Given the description of an element on the screen output the (x, y) to click on. 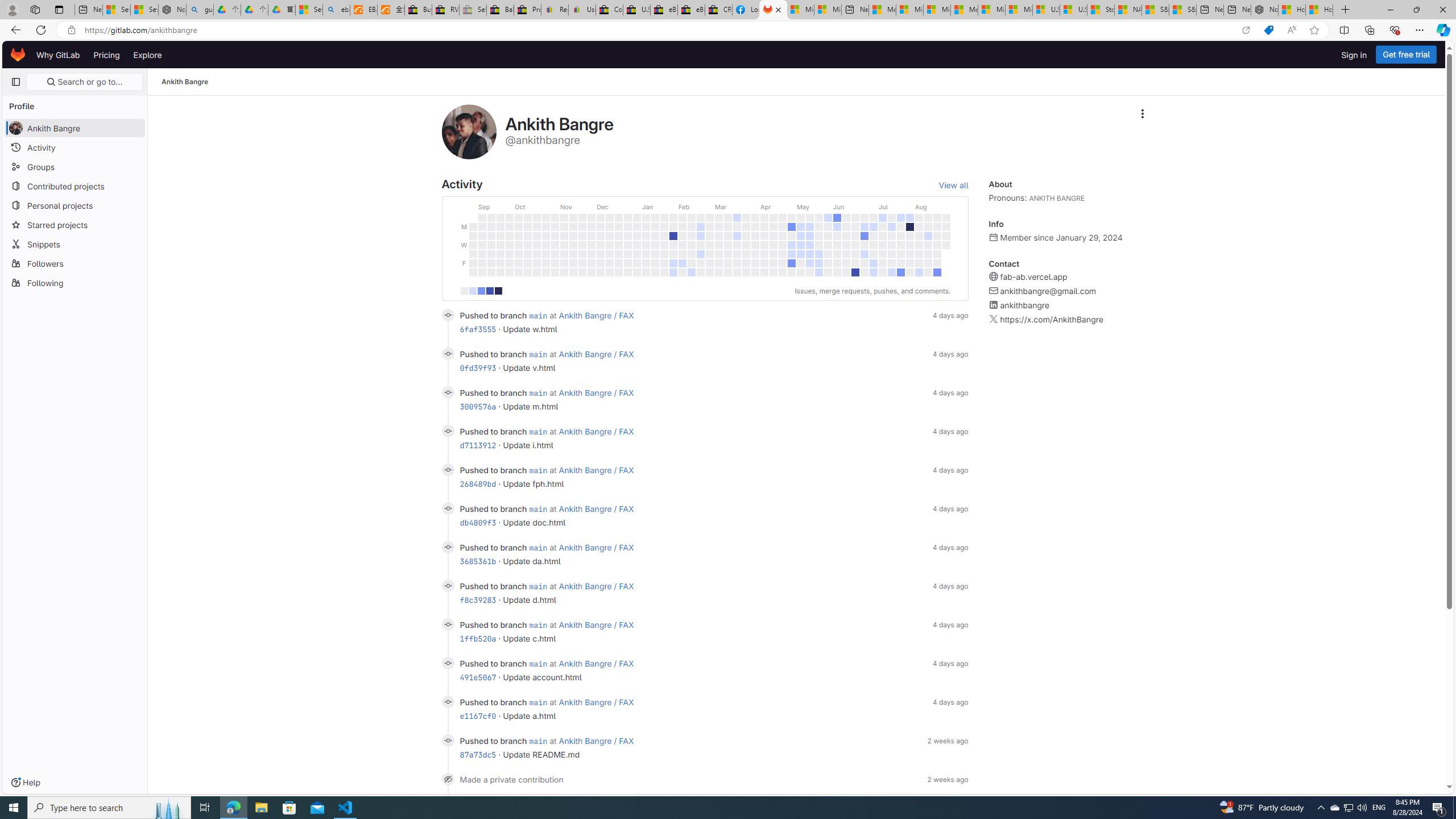
View all (953, 184)
